Given the description of an element on the screen output the (x, y) to click on. 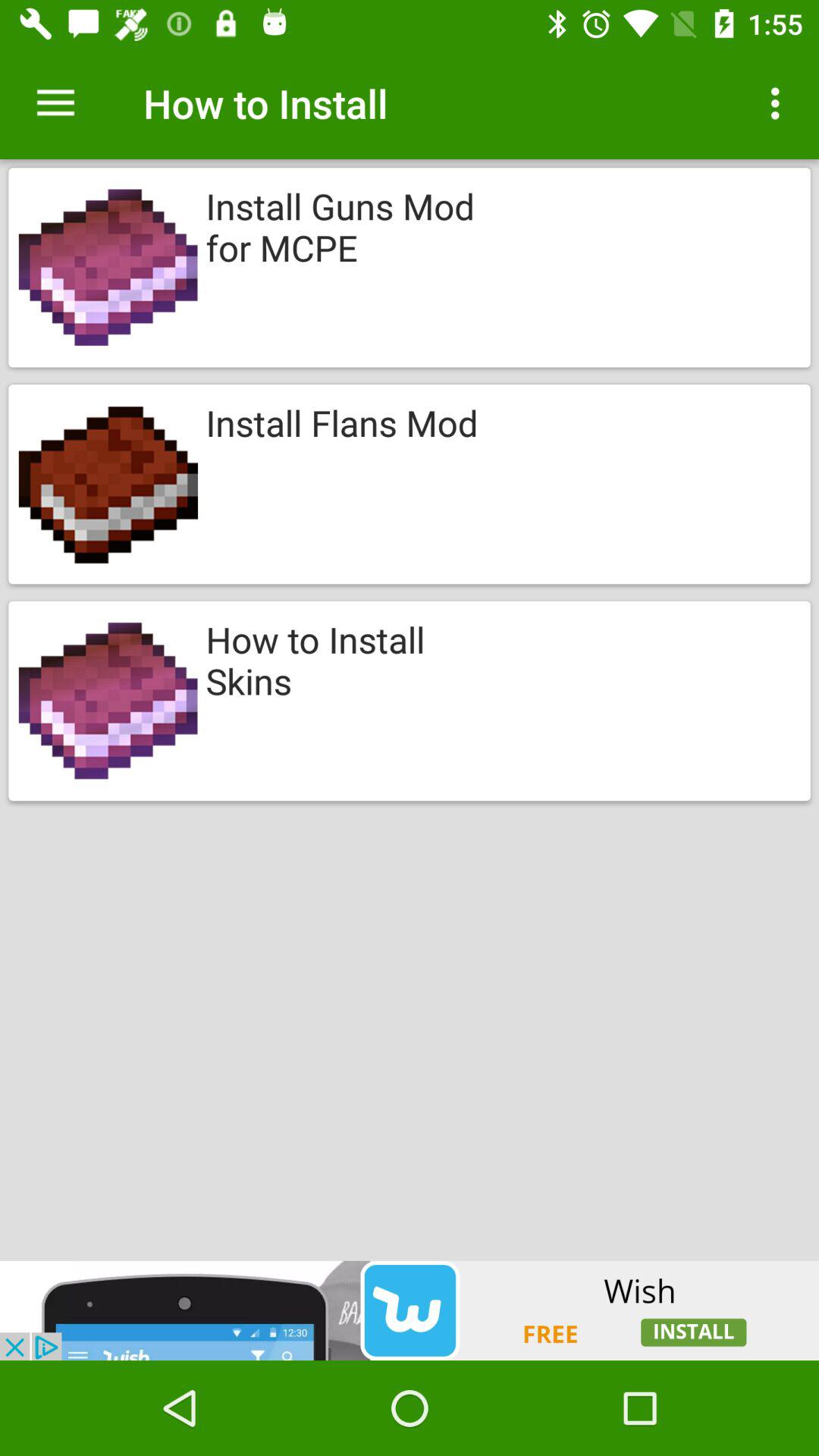
open advertisement (409, 1310)
